Given the description of an element on the screen output the (x, y) to click on. 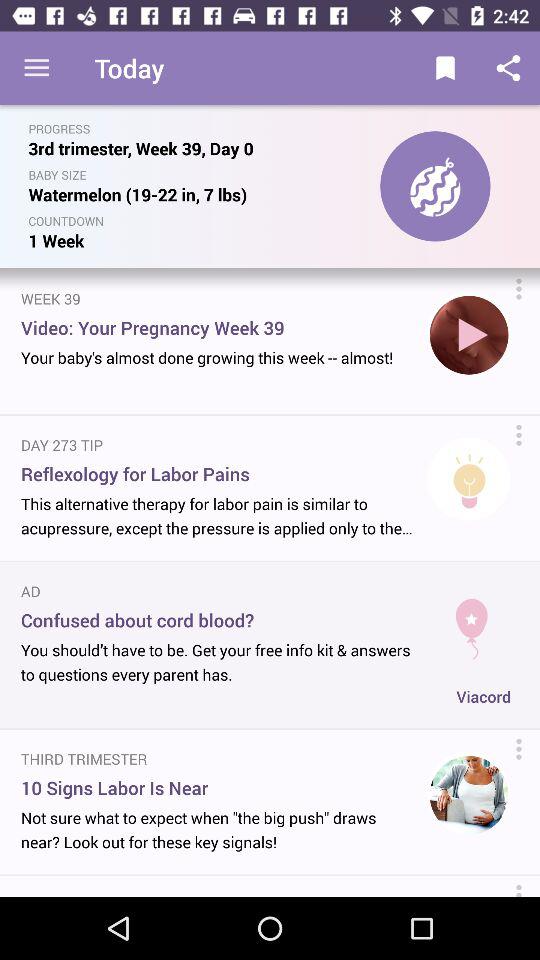
open the confused about cord item (221, 619)
